Given the description of an element on the screen output the (x, y) to click on. 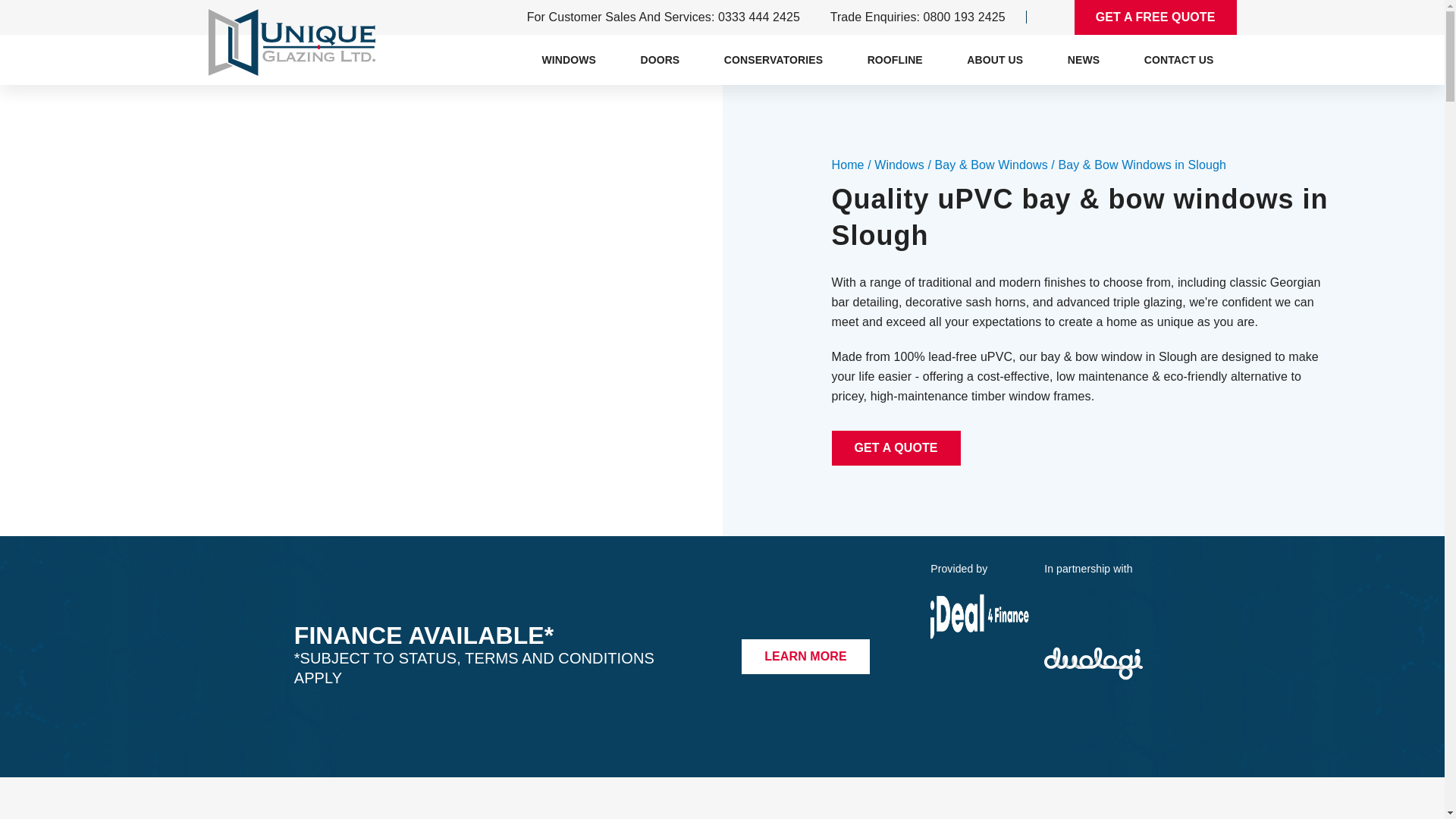
Get A Quote (895, 448)
